Given the description of an element on the screen output the (x, y) to click on. 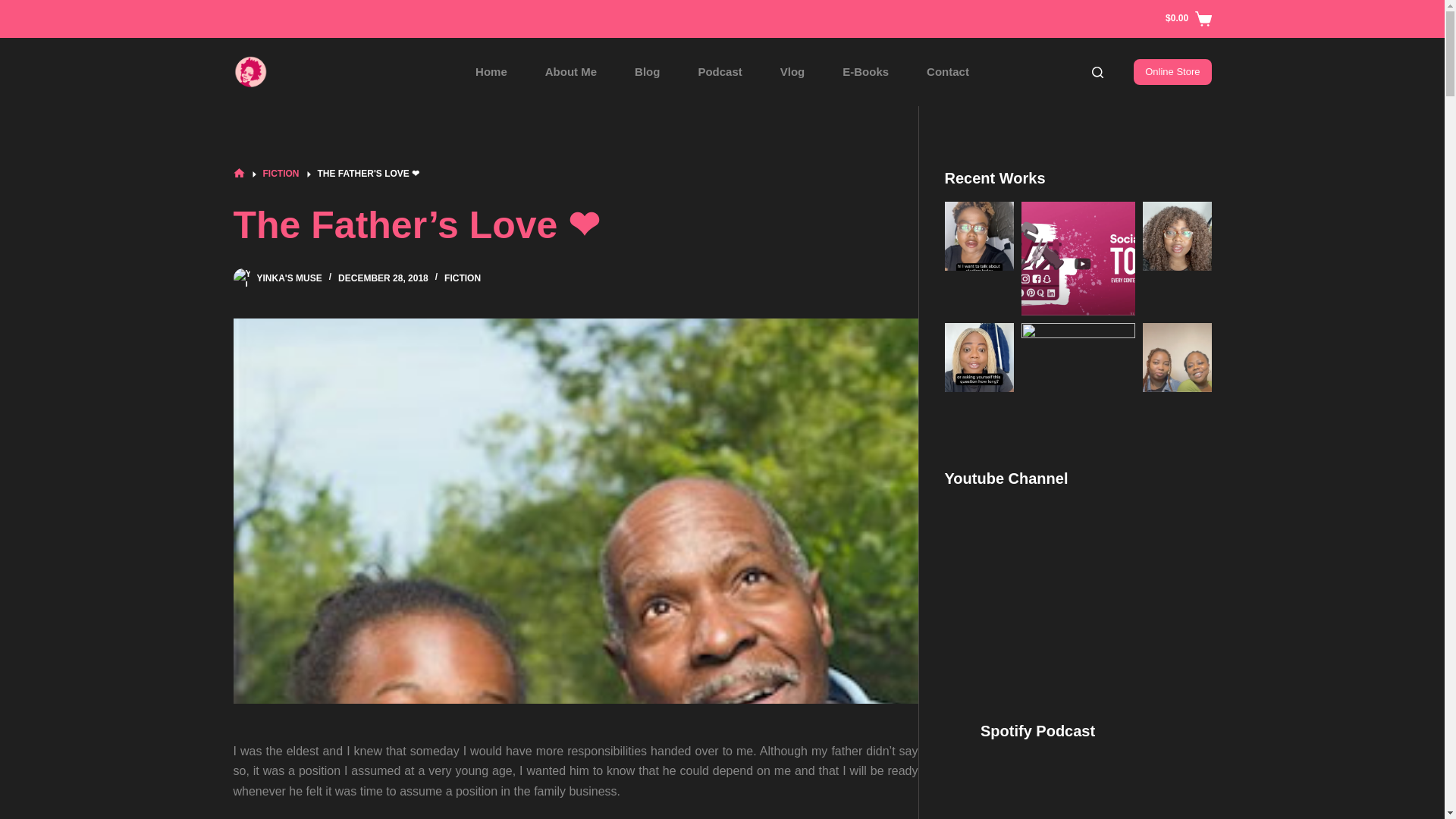
Home (491, 71)
Podcast (719, 71)
Online Store (1172, 71)
Vlog (792, 71)
About Me (570, 71)
YINKA'S MUSE (288, 277)
Skip to content (15, 7)
FICTION (280, 174)
Posts by Yinka's Muse (288, 277)
Blog (646, 71)
E-Books (865, 71)
Contact (947, 71)
FICTION (462, 277)
